Given the description of an element on the screen output the (x, y) to click on. 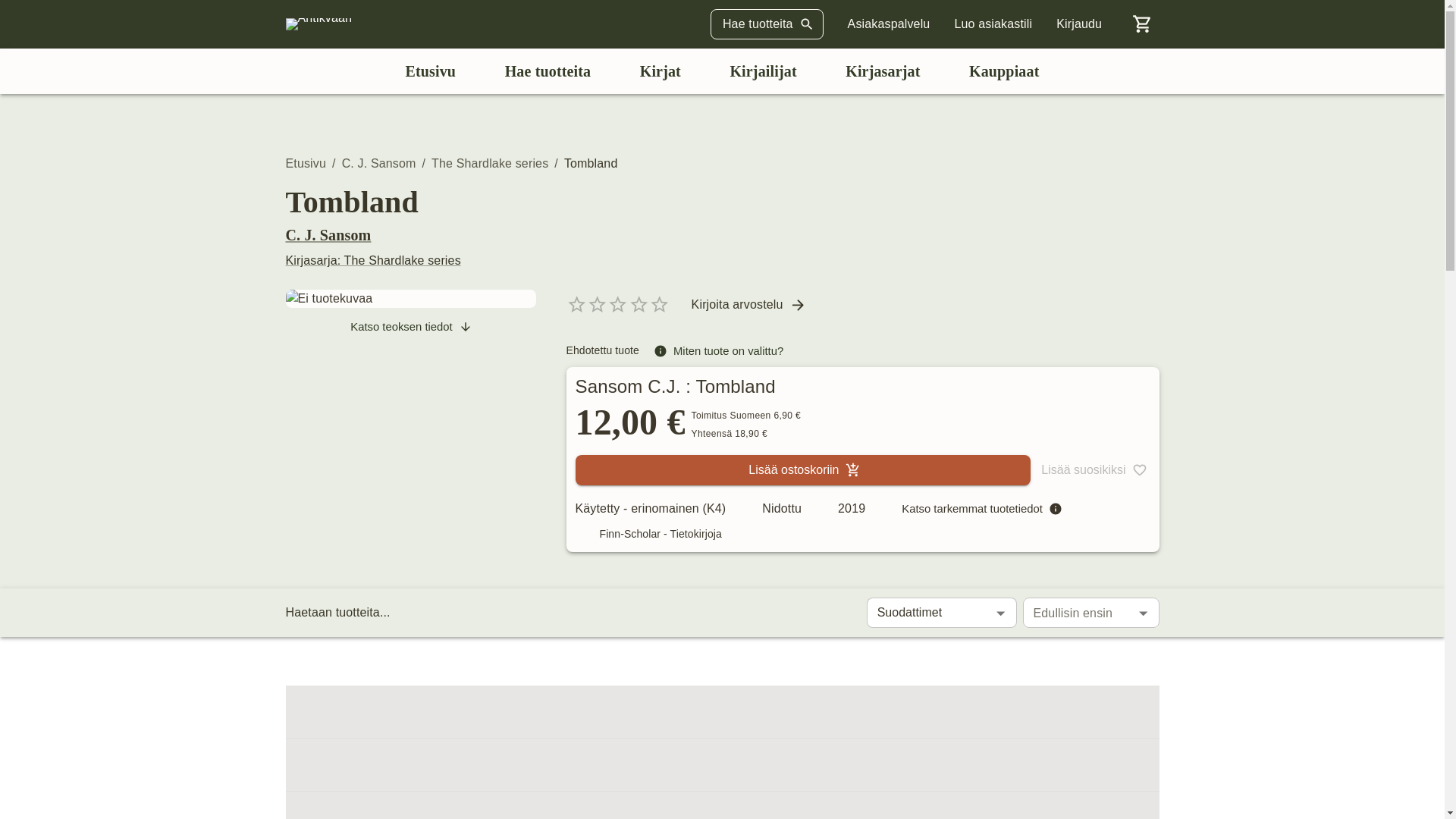
Etusivu (429, 70)
Suodattimet (941, 612)
Luo asiakastili (992, 24)
Etusivu (305, 163)
Kauppiaat (1003, 70)
Katso teoksen tiedot (410, 326)
Katso tarkemmat tuotetiedot (981, 508)
Kirjaudu (1079, 24)
Kirjasarjat (883, 70)
C. J. Sansom (328, 234)
